Given the description of an element on the screen output the (x, y) to click on. 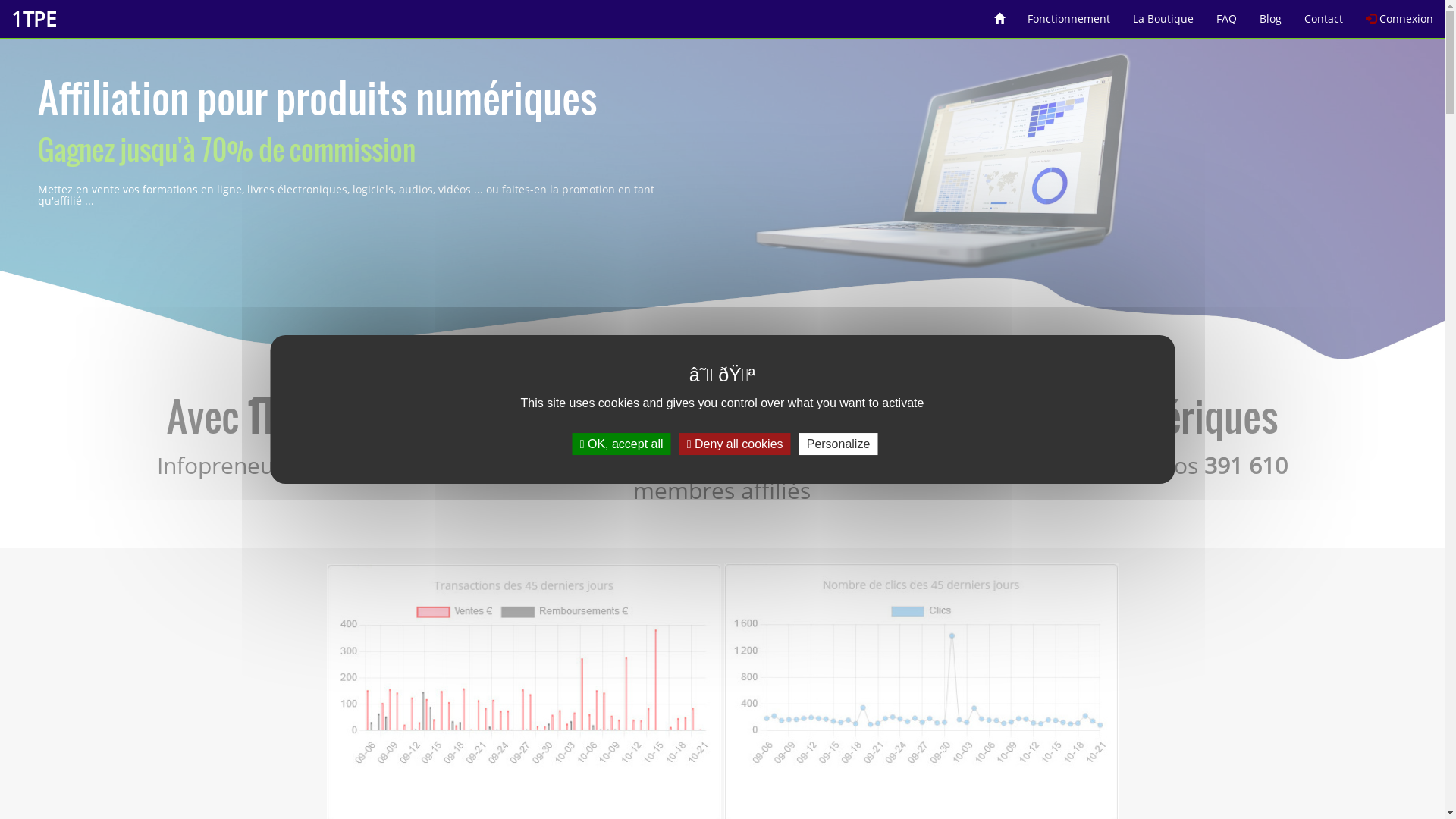
FAQ Element type: text (1226, 13)
Blog Element type: text (1270, 13)
La Boutique Element type: text (1162, 13)
Connexion Element type: text (1399, 13)
1TPE Element type: text (33, 18)
Fonctionnement Element type: text (1068, 13)
Contact Element type: text (1323, 13)
